Given the description of an element on the screen output the (x, y) to click on. 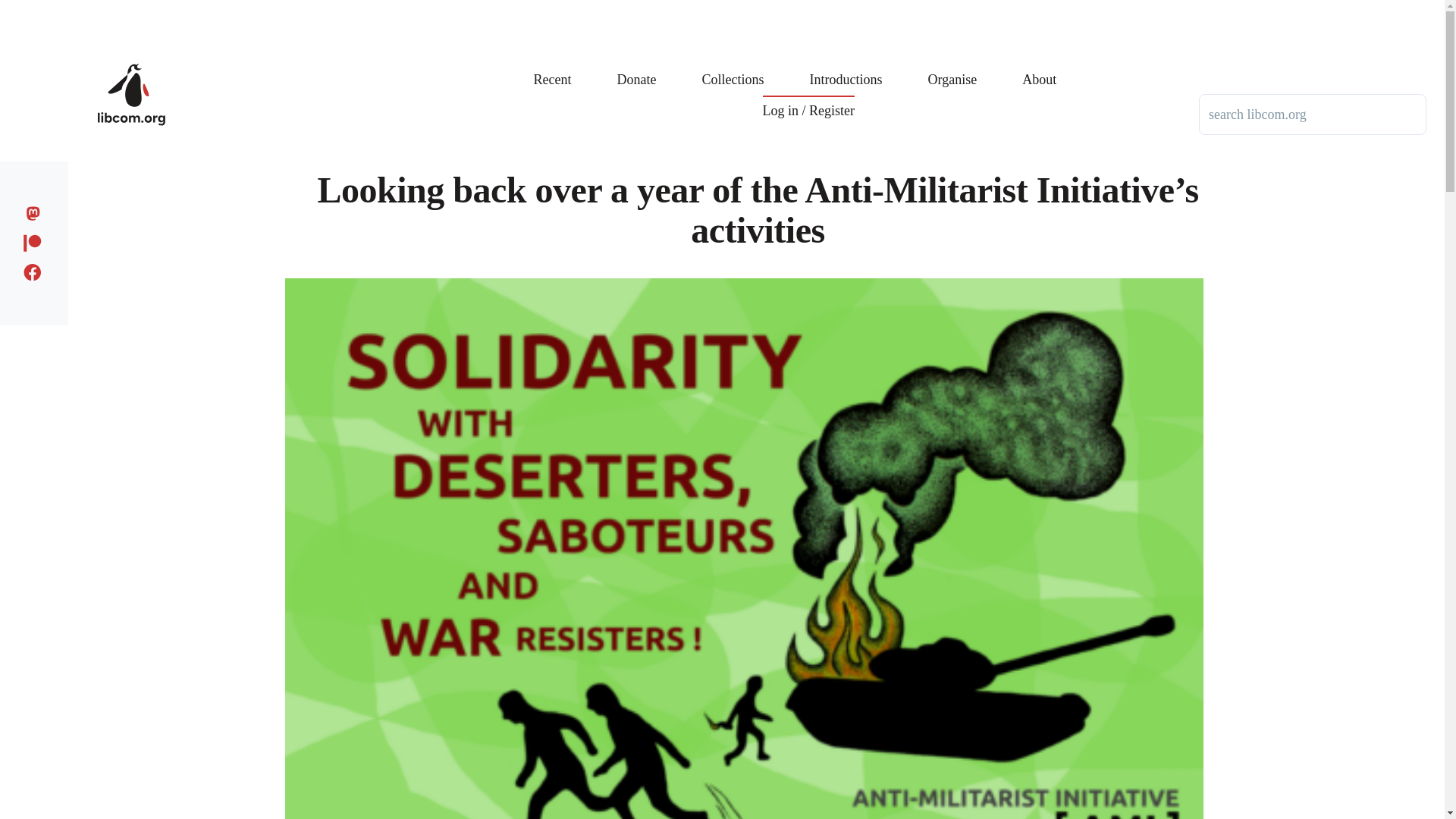
Support us on patreon (36, 239)
Skip to main content (595, 6)
Introductions (845, 68)
Organise (952, 68)
Collections (732, 68)
Like us on facebook (36, 269)
Follow us on Mastodon (36, 210)
